Given the description of an element on the screen output the (x, y) to click on. 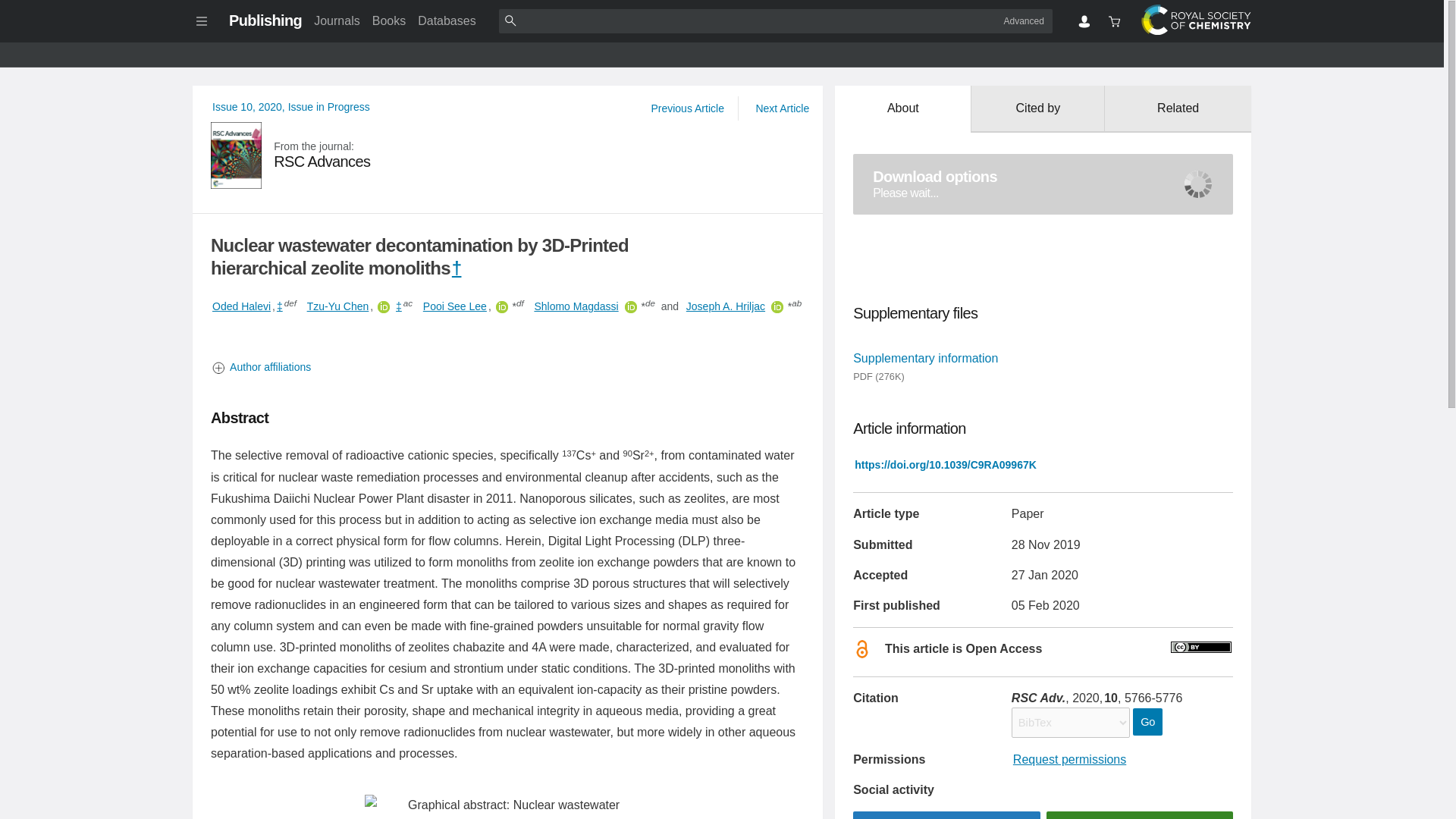
Databases (446, 20)
Pooi See Lee (454, 305)
Oded Halevi (241, 305)
Previous Article (687, 107)
Cited by (1037, 108)
Journals (336, 20)
Publishing home page (264, 20)
Books (389, 20)
Publishing (264, 20)
Next Article (781, 107)
About (902, 108)
Shlomo Magdassi (576, 305)
Related (1177, 108)
Advanced (1023, 20)
